Given the description of an element on the screen output the (x, y) to click on. 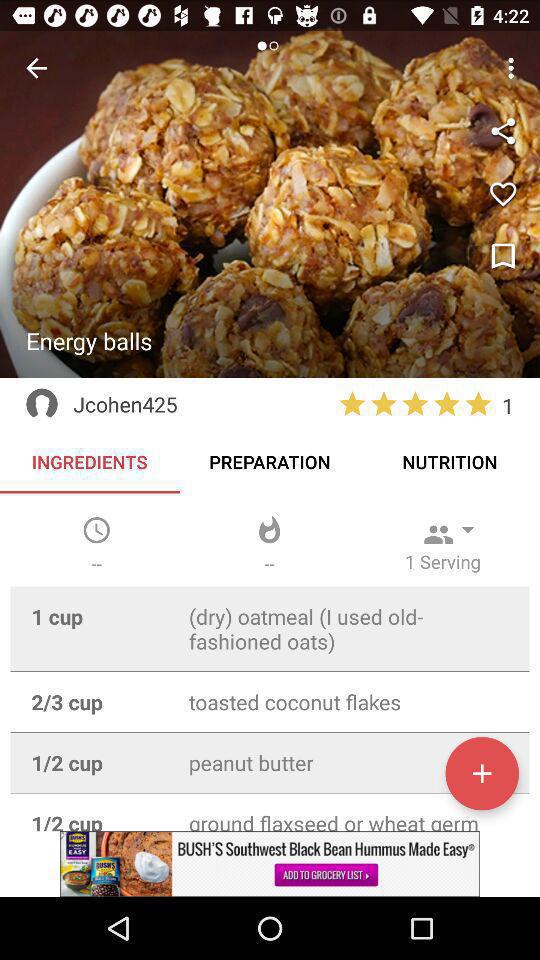
favorite recipe (503, 194)
